Given the description of an element on the screen output the (x, y) to click on. 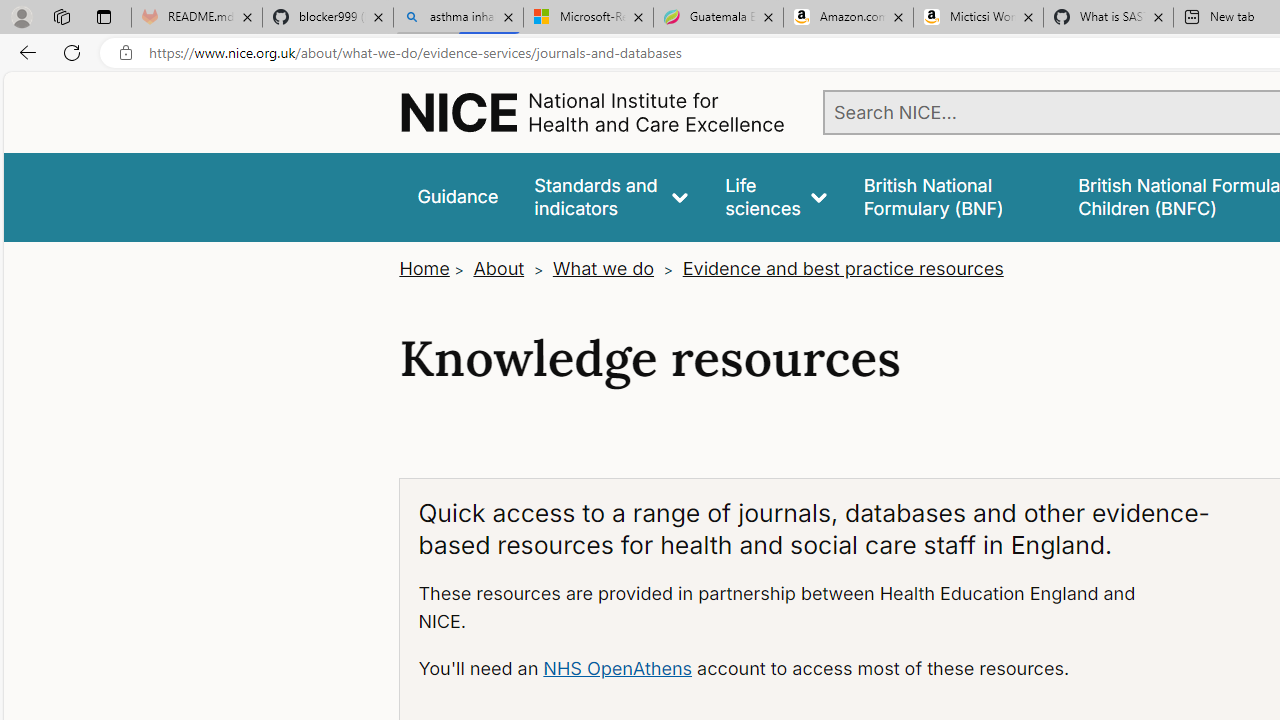
NHS OpenAthens (617, 668)
